Given the description of an element on the screen output the (x, y) to click on. 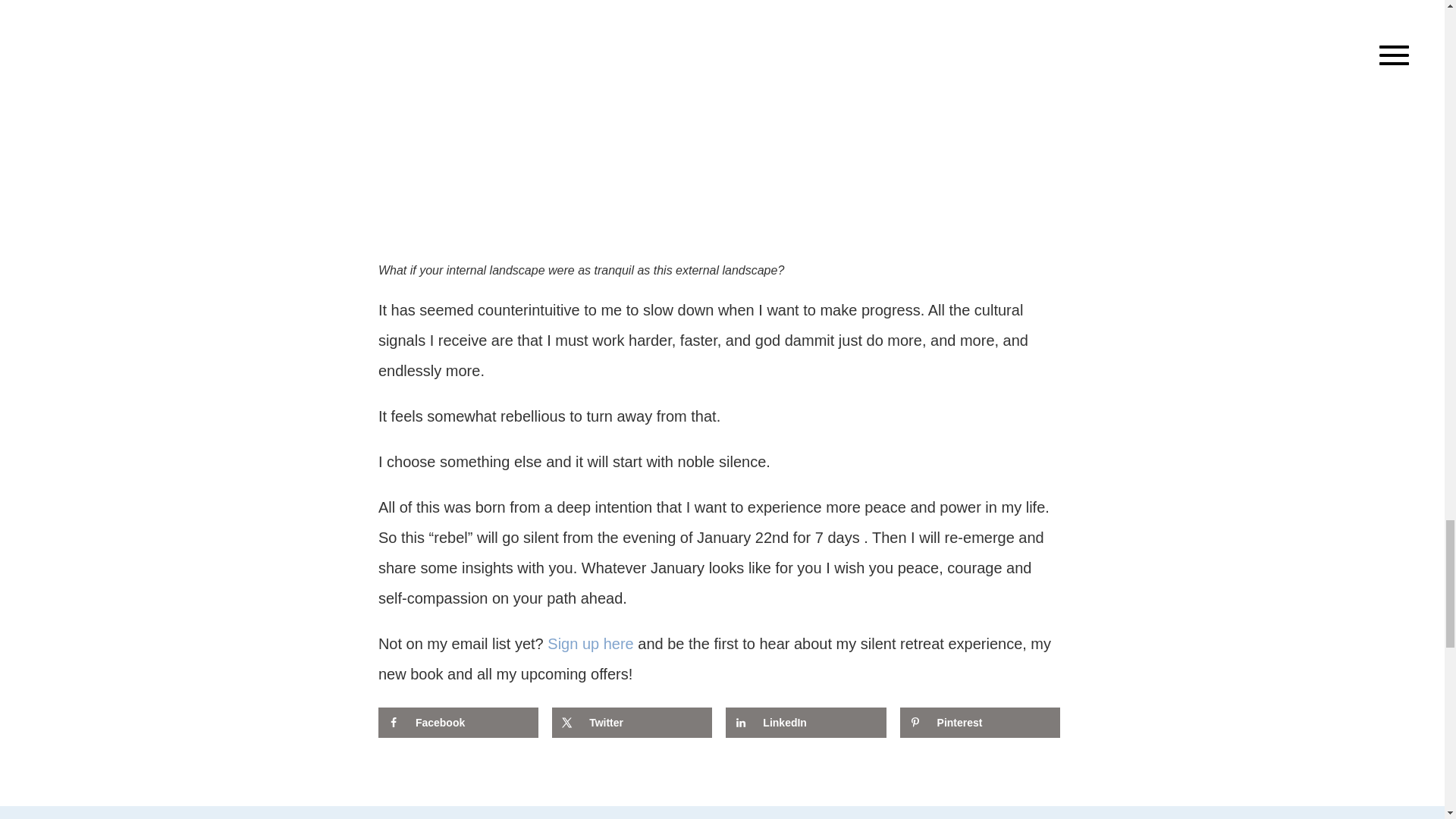
Share on Facebook (458, 722)
Share on X (631, 722)
Save to Pinterest (979, 722)
Share on LinkedIn (805, 722)
